Given the description of an element on the screen output the (x, y) to click on. 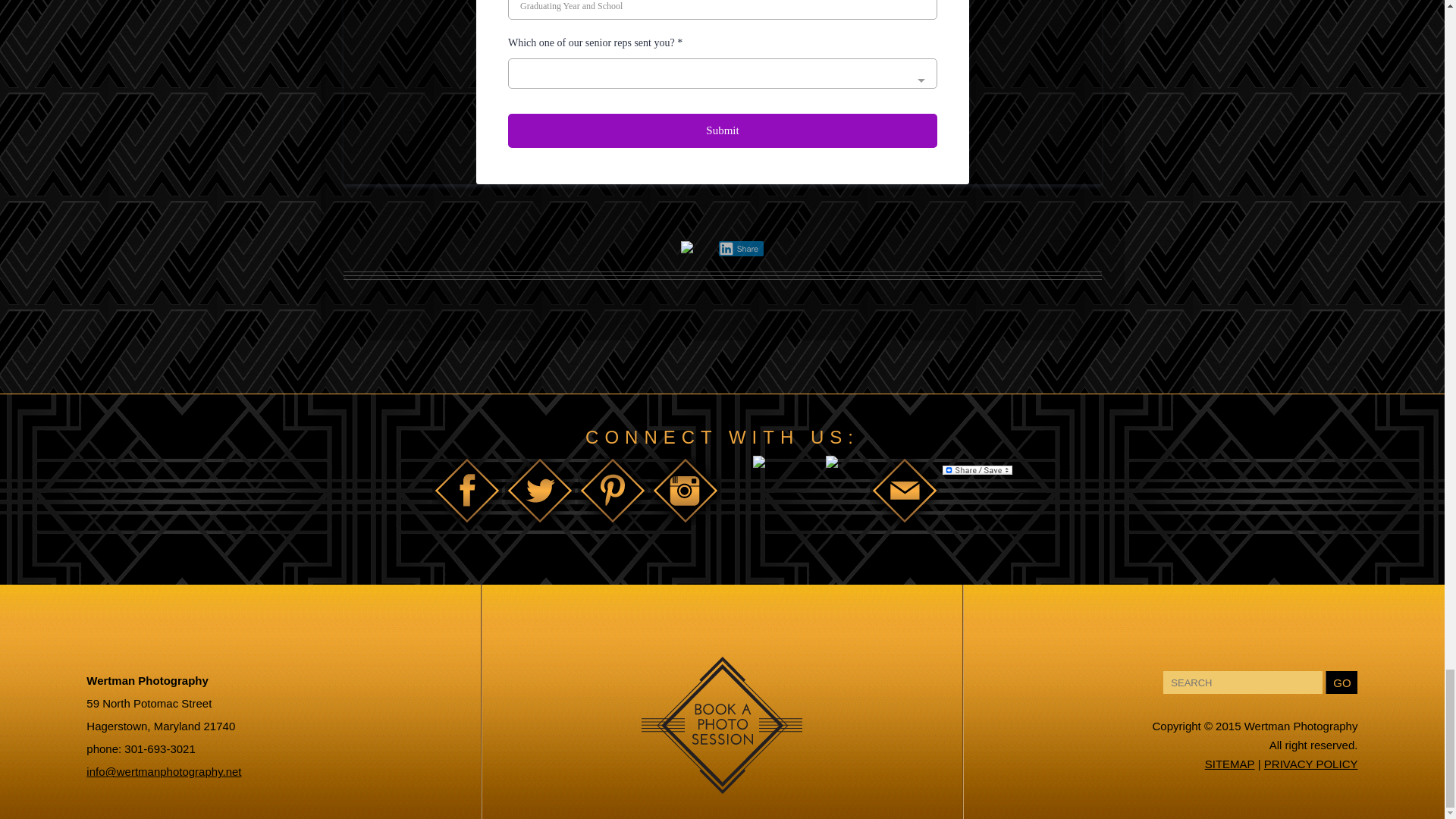
Book A Session Icon (722, 784)
GO (1340, 681)
GO (1340, 681)
Share (740, 248)
Tweet (721, 218)
